Given the description of an element on the screen output the (x, y) to click on. 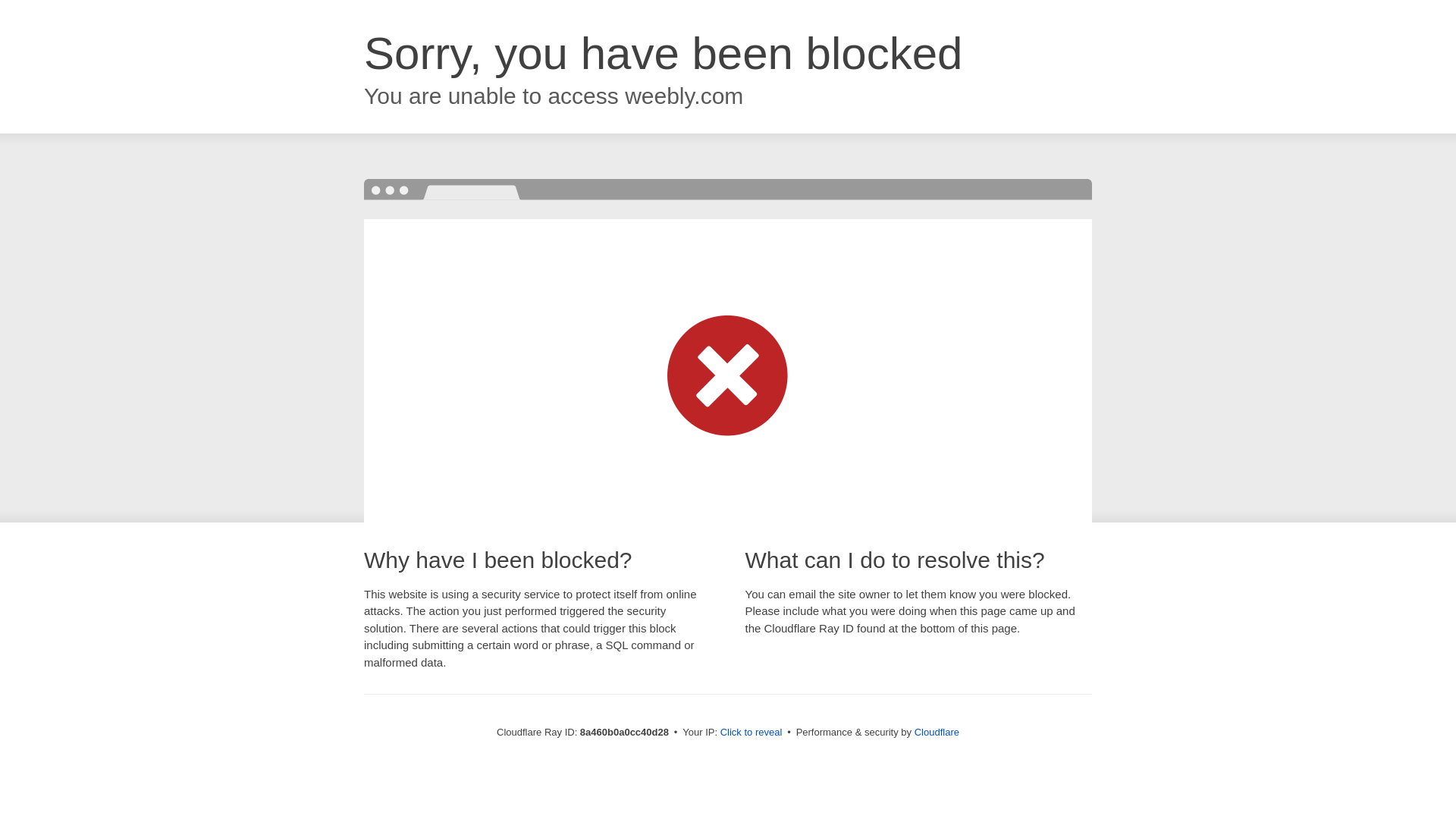
Click to reveal (751, 732)
Cloudflare (936, 731)
